Given the description of an element on the screen output the (x, y) to click on. 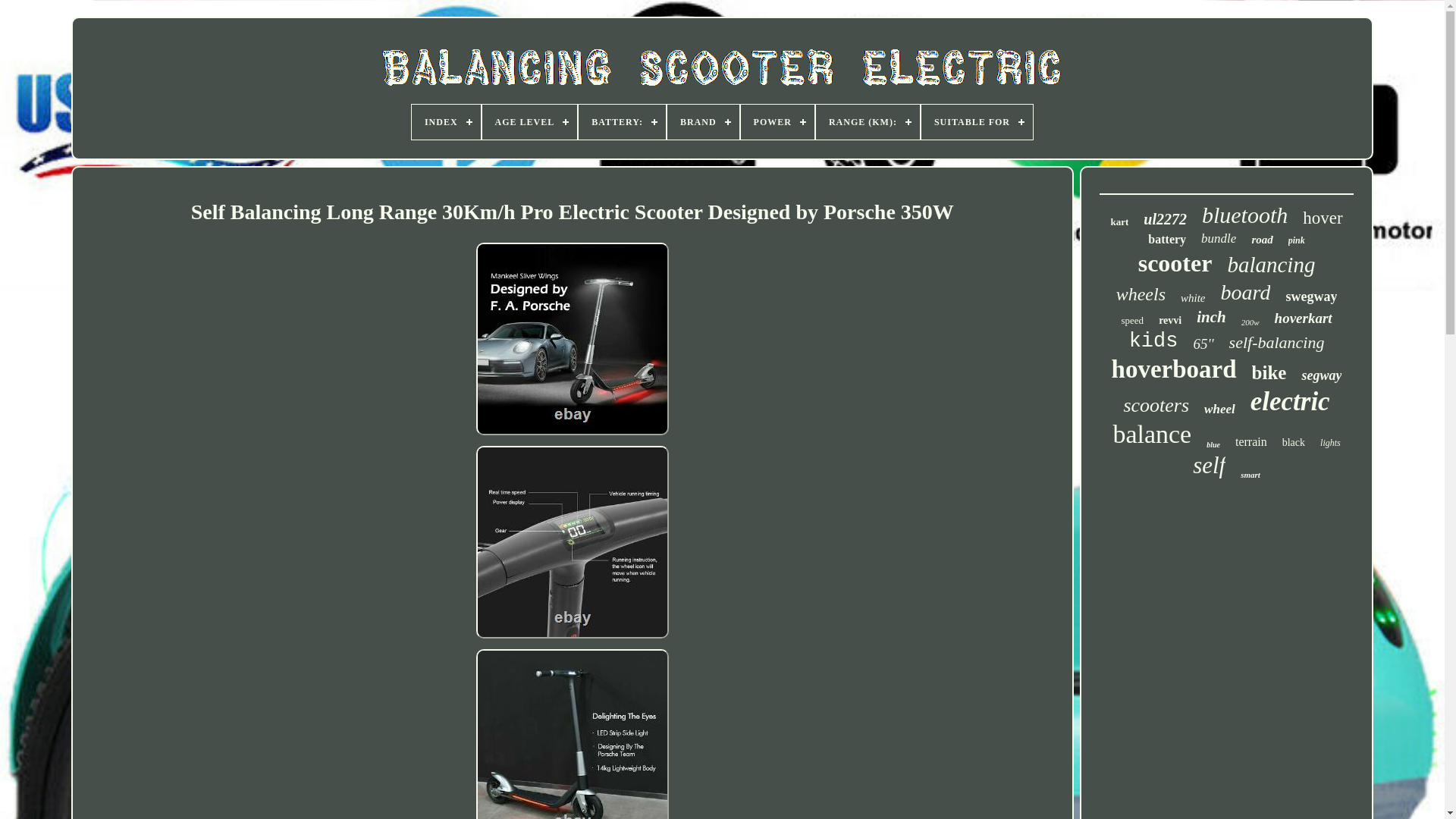
AGE LEVEL (529, 121)
BRAND (702, 121)
INDEX (446, 121)
BATTERY: (621, 121)
